Given the description of an element on the screen output the (x, y) to click on. 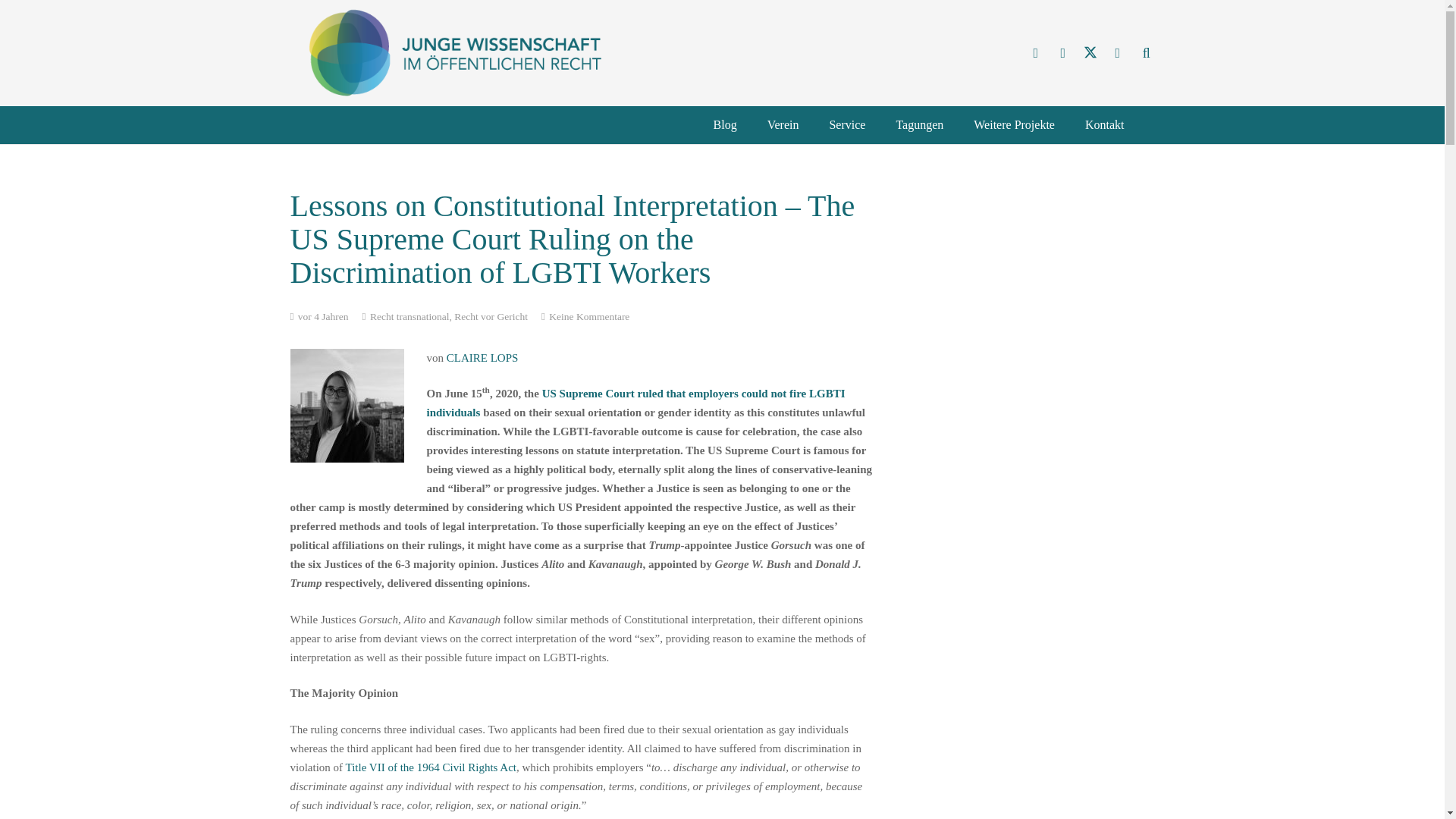
Facebook (1063, 52)
Keine Kommentare (588, 316)
RSS (1117, 52)
Verein (782, 125)
Service (846, 125)
Blog (725, 125)
Twitter (1090, 52)
E-Mail (1035, 52)
Weitere Projekte (1014, 125)
Tagungen (919, 125)
